Given the description of an element on the screen output the (x, y) to click on. 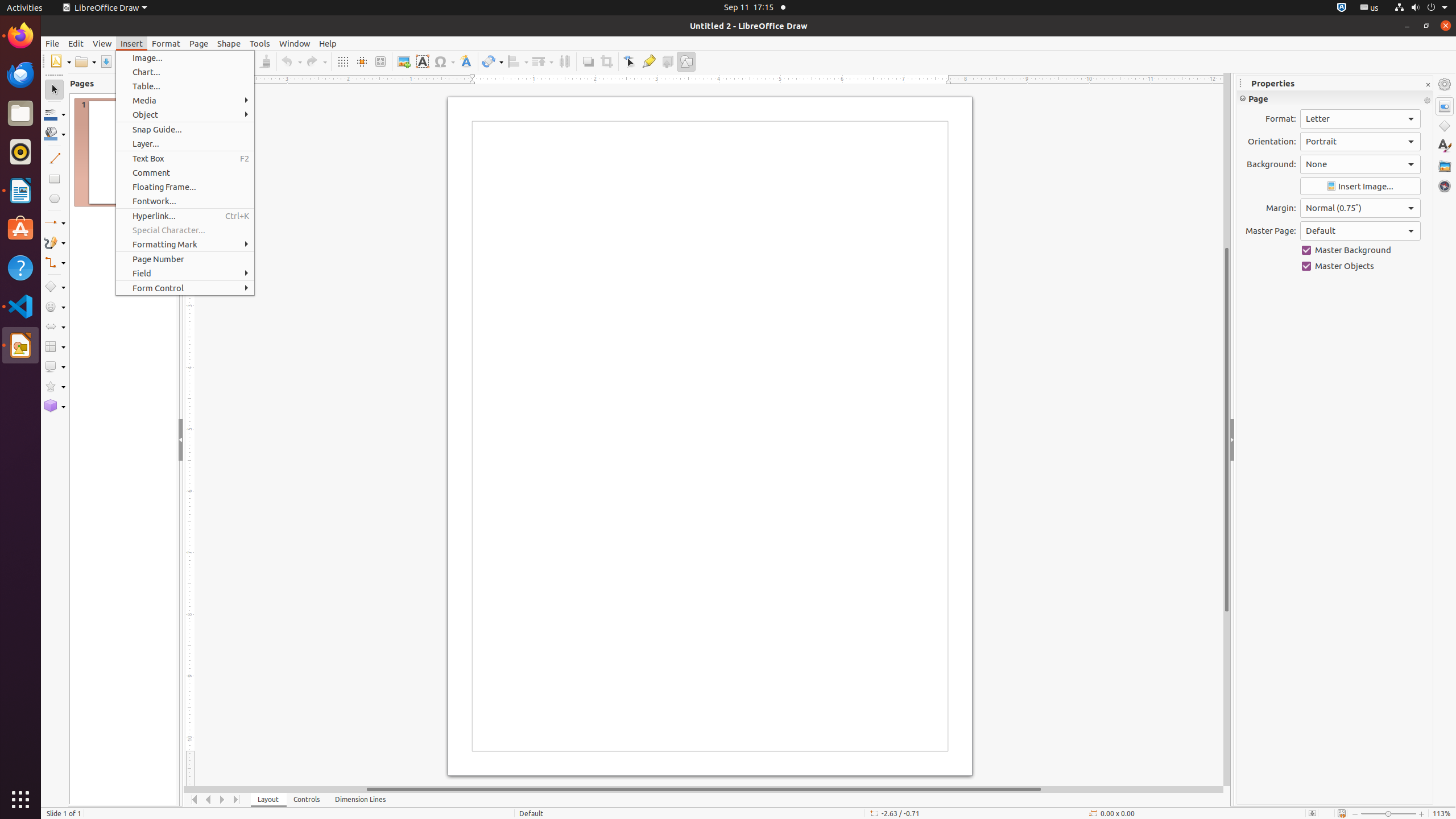
Form Control Element type: menu (185, 287)
Window Element type: menu (294, 43)
Tools Element type: menu (259, 43)
Transformations Element type: push-button (492, 61)
Media Element type: menu (185, 100)
